Given the description of an element on the screen output the (x, y) to click on. 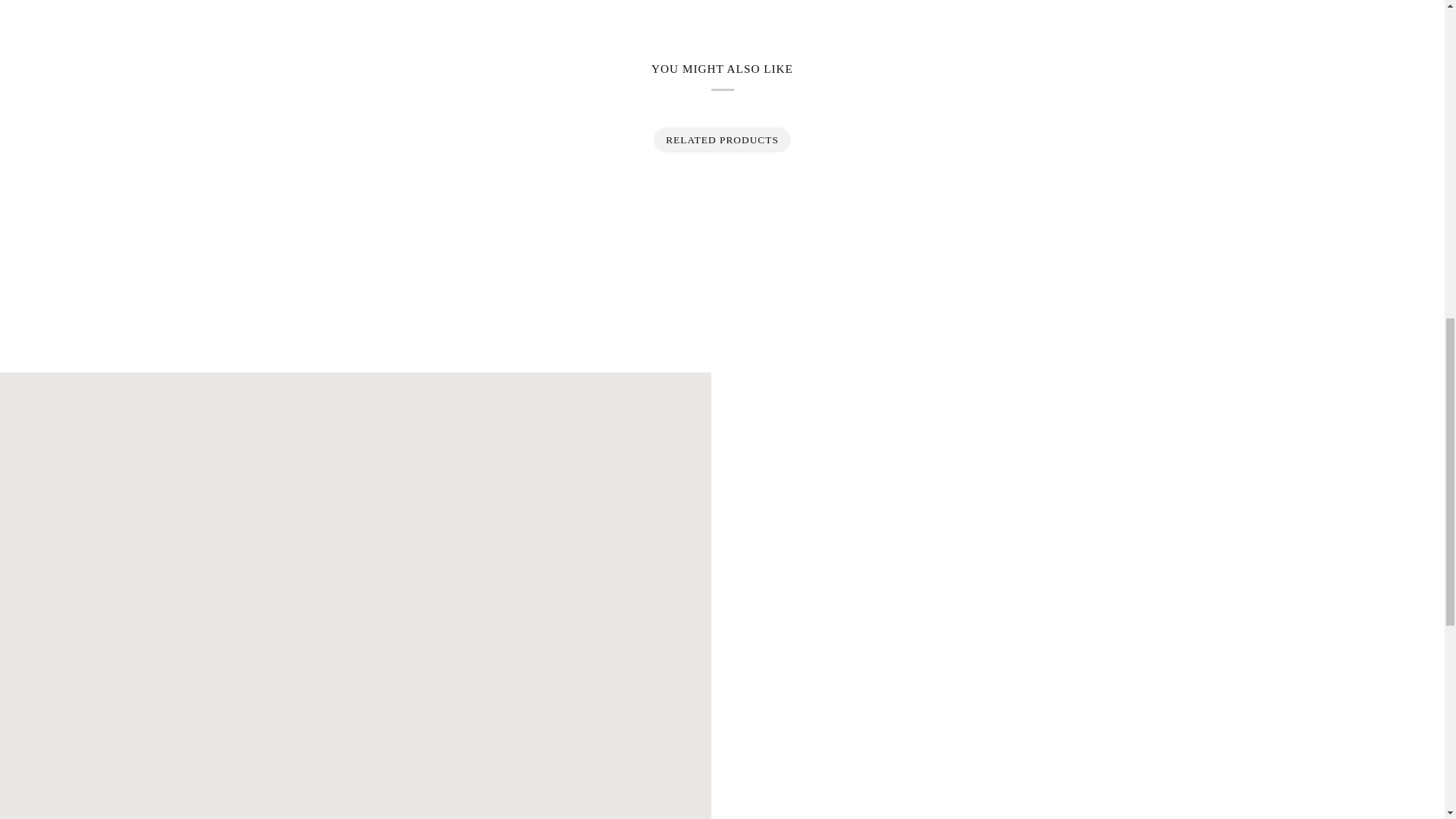
RELATED PRODUCTS (721, 139)
